Given the description of an element on the screen output the (x, y) to click on. 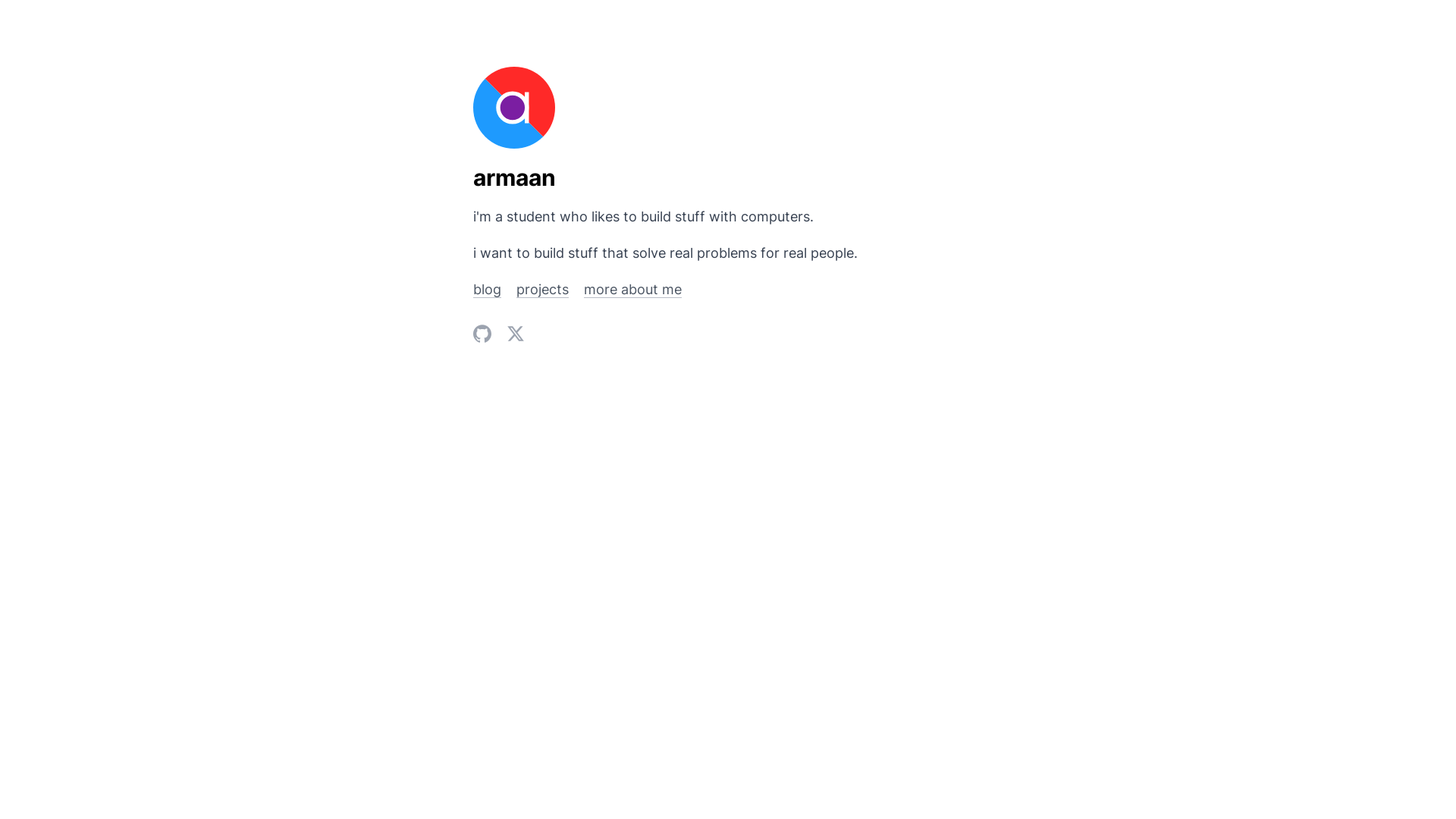
projects Element type: text (542, 289)
X (formerly known as Twitter) Element type: hover (515, 333)
more about me Element type: text (632, 289)
blog Element type: text (487, 289)
GitHub Element type: hover (482, 333)
